Given the description of an element on the screen output the (x, y) to click on. 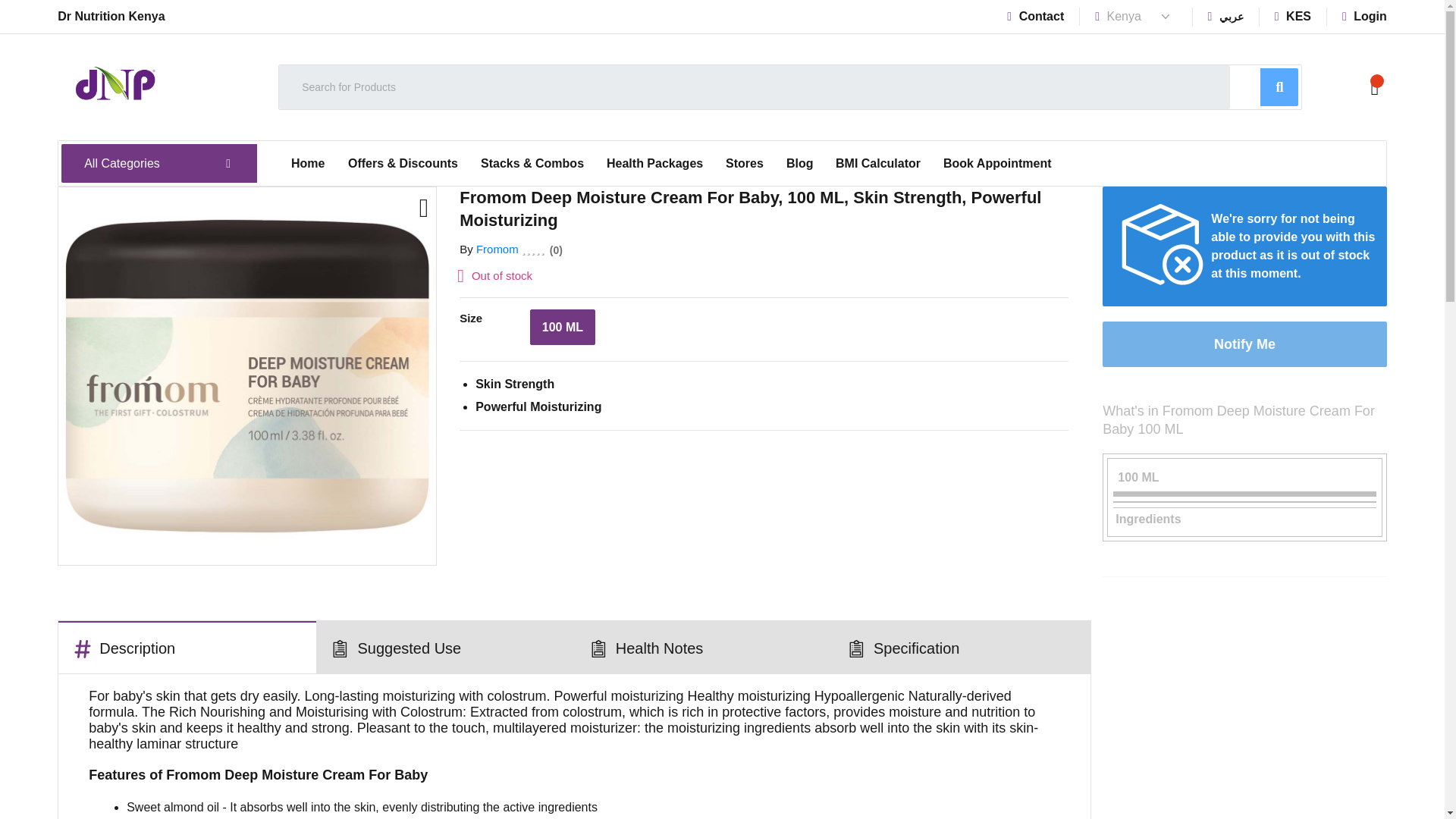
Stores (744, 163)
KES (1293, 16)
Login (1364, 16)
Contact (1035, 16)
Home (307, 163)
KES (1293, 16)
Login (1364, 16)
Health Packages (654, 163)
Contact (1035, 16)
